Given the description of an element on the screen output the (x, y) to click on. 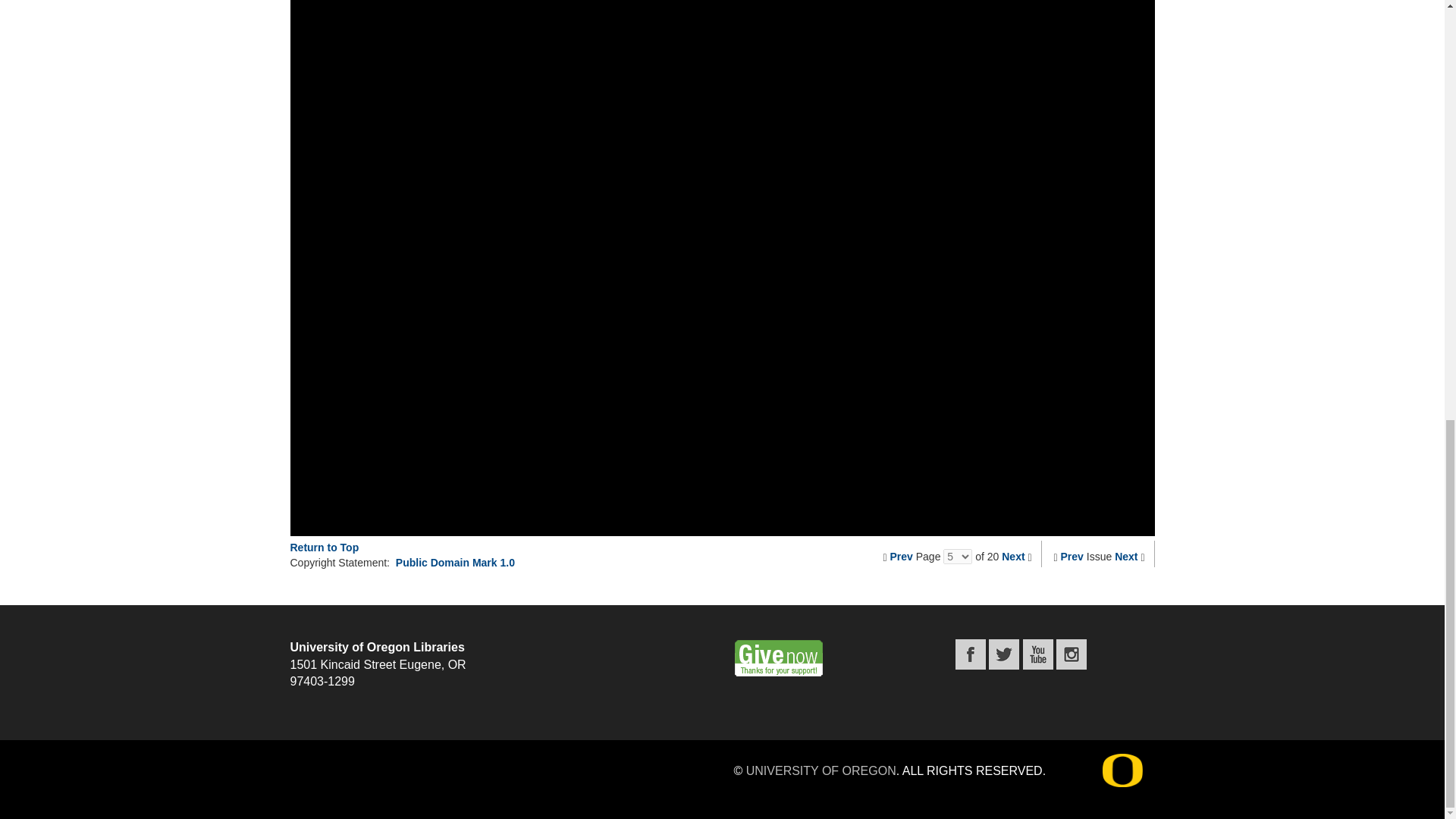
Next (1013, 556)
Next (1126, 556)
Return to Top (323, 547)
Prev (1072, 556)
Prev (900, 556)
Public Domain Mark 1.0 (455, 562)
